Given the description of an element on the screen output the (x, y) to click on. 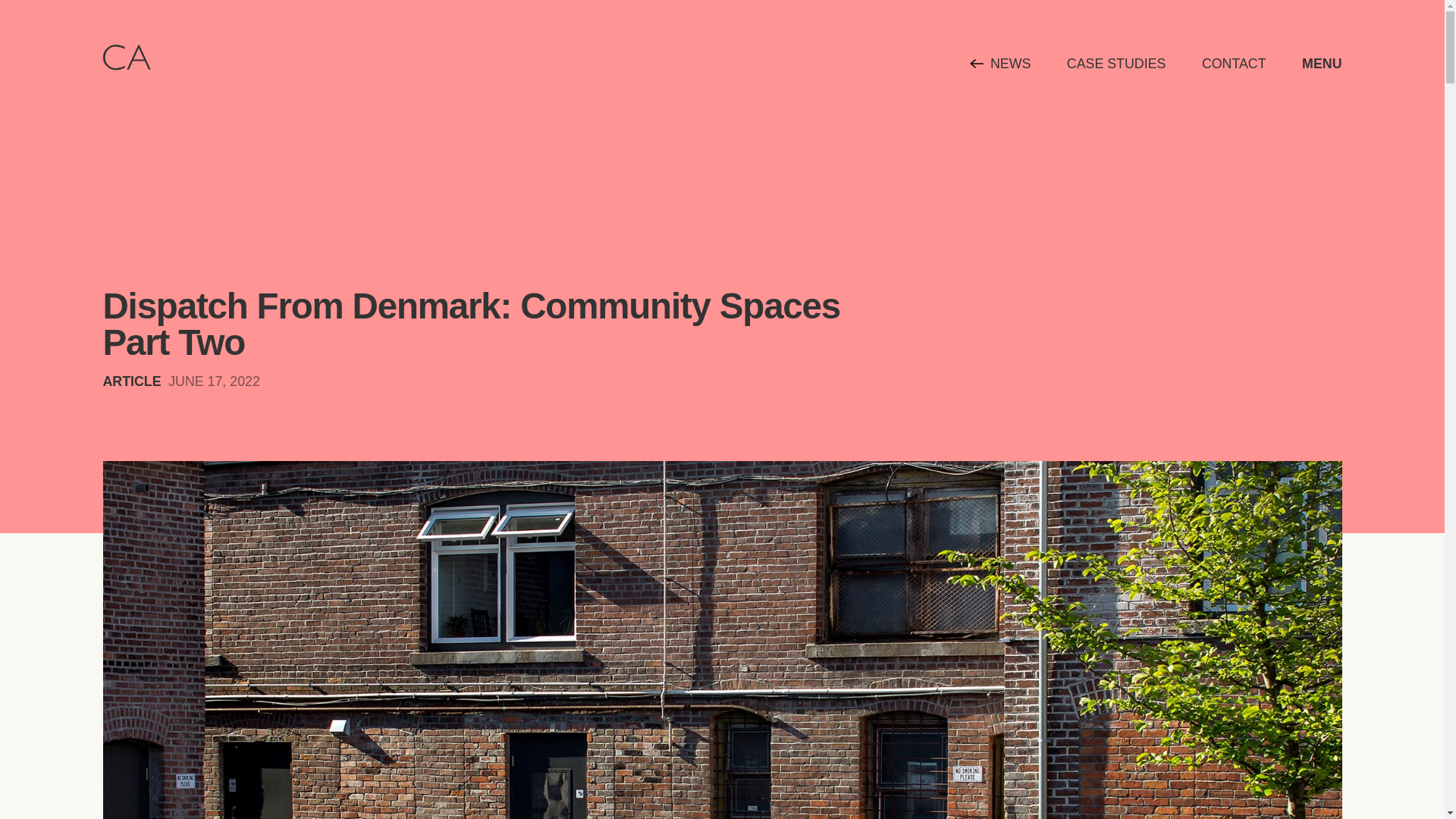
CASE STUDIES (1116, 63)
MENU (1320, 64)
NEWS (1010, 63)
CONTACT (1234, 63)
